Given the description of an element on the screen output the (x, y) to click on. 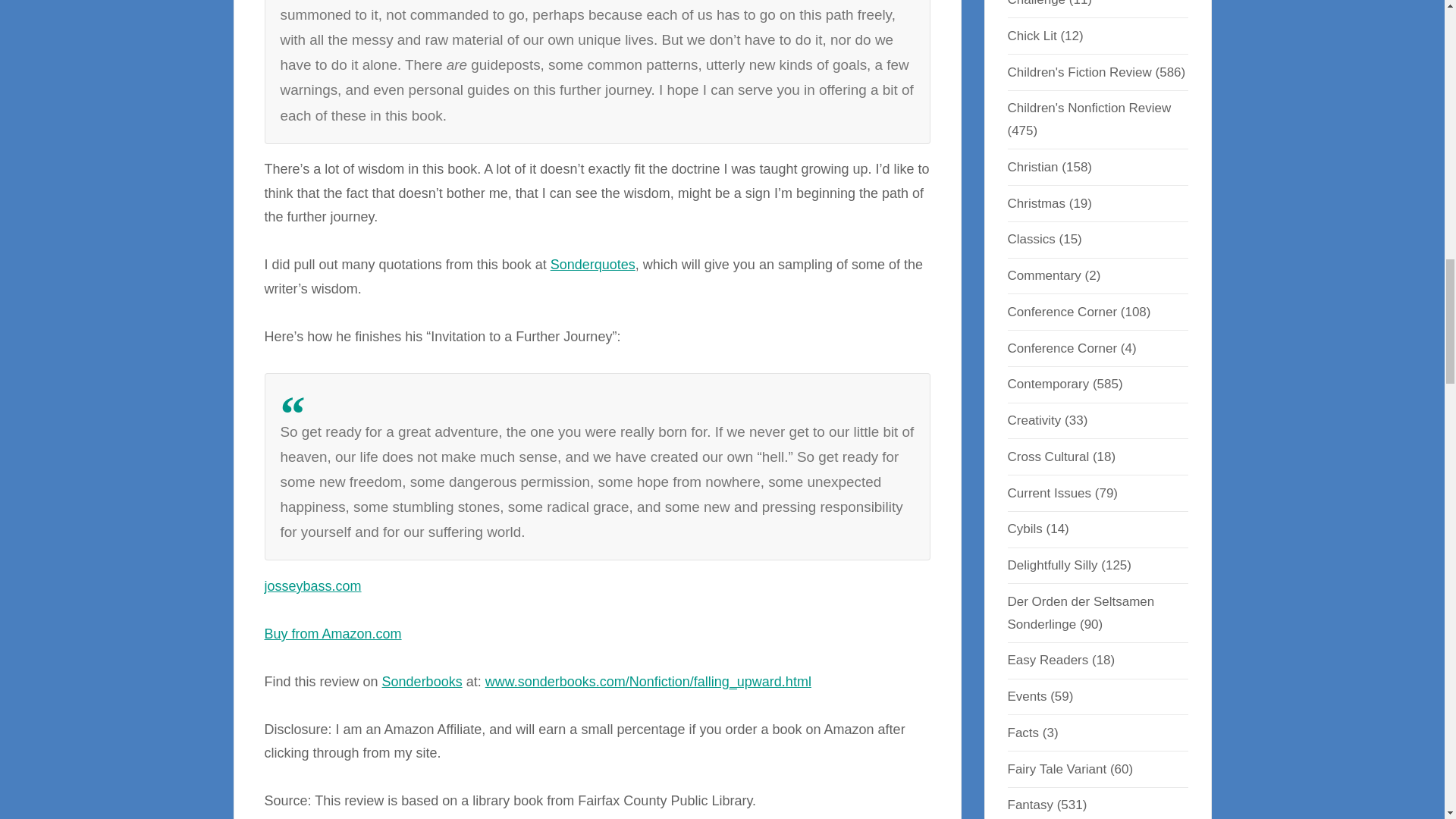
Sonderquotes (592, 264)
josseybass.com (312, 585)
Buy from Amazon.com (332, 633)
Sonderbooks (422, 681)
